Given the description of an element on the screen output the (x, y) to click on. 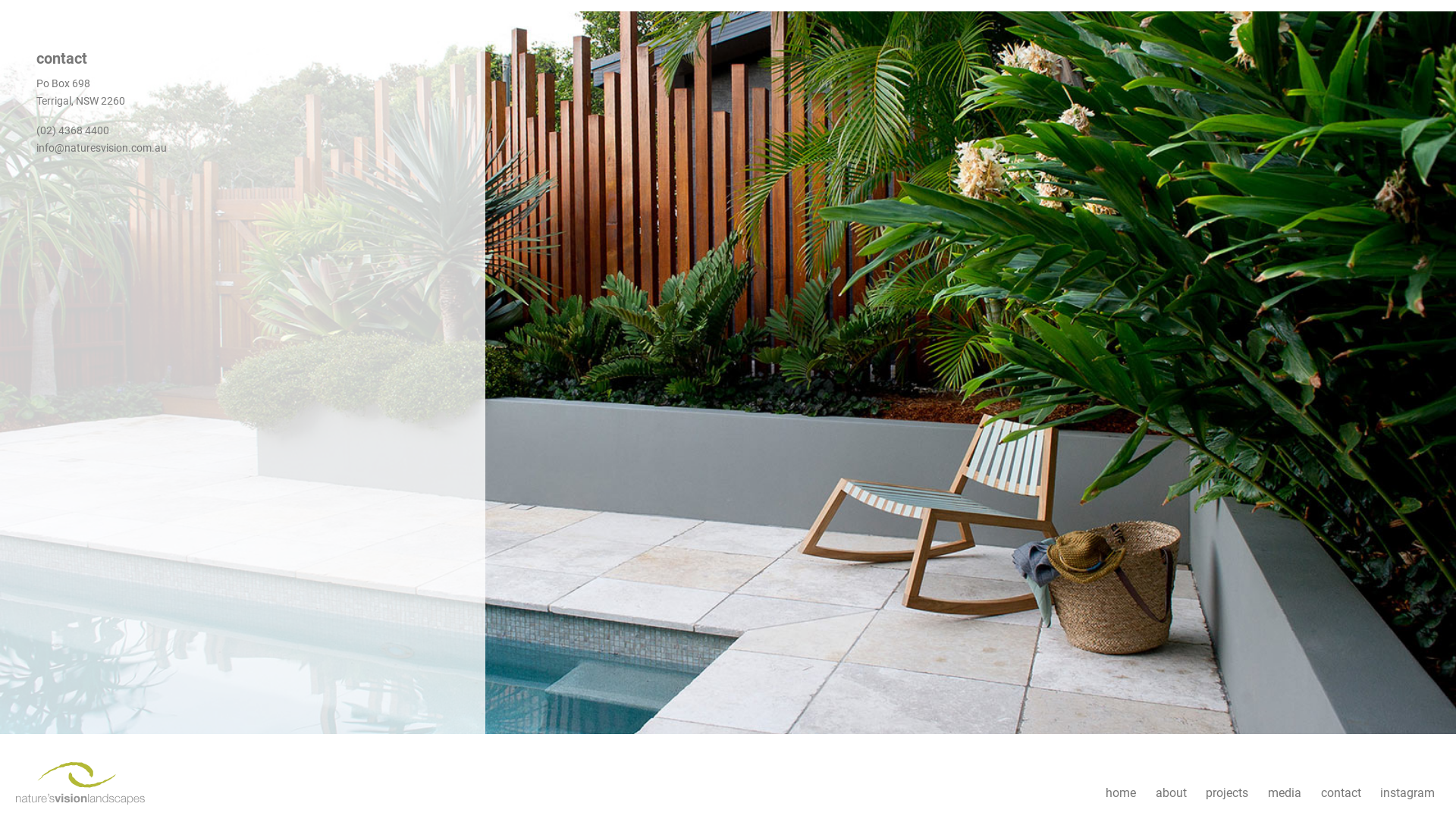
contact Element type: text (1341, 793)
home Element type: text (1120, 793)
projects Element type: text (1227, 793)
about Element type: text (1170, 793)
info@naturesvision.com.au Element type: text (101, 147)
media Element type: text (1284, 793)
instagram Element type: text (1407, 793)
